Given the description of an element on the screen output the (x, y) to click on. 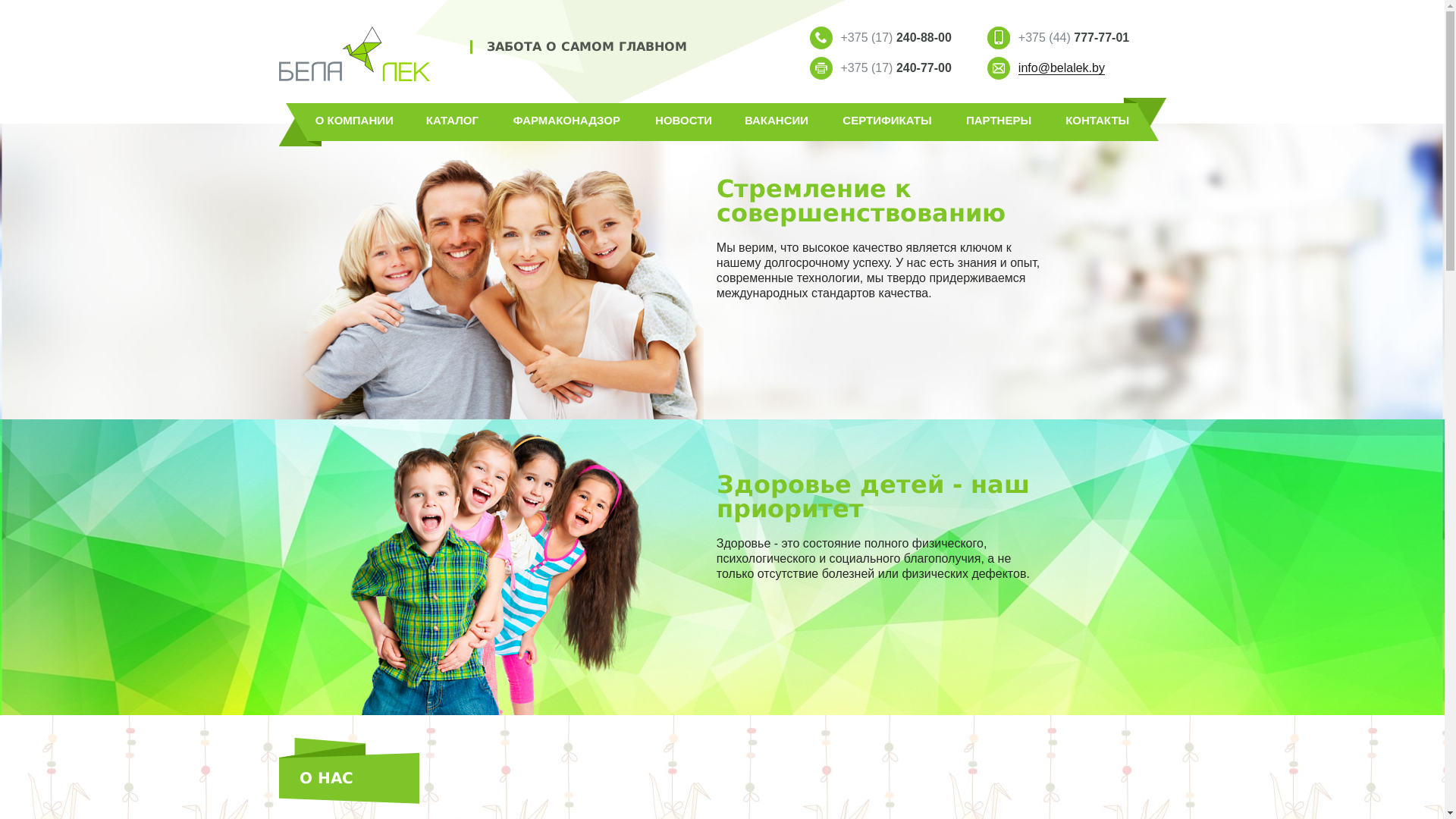
  Element type: text (354, 53)
info@belalek.by Element type: text (1061, 68)
